Given the description of an element on the screen output the (x, y) to click on. 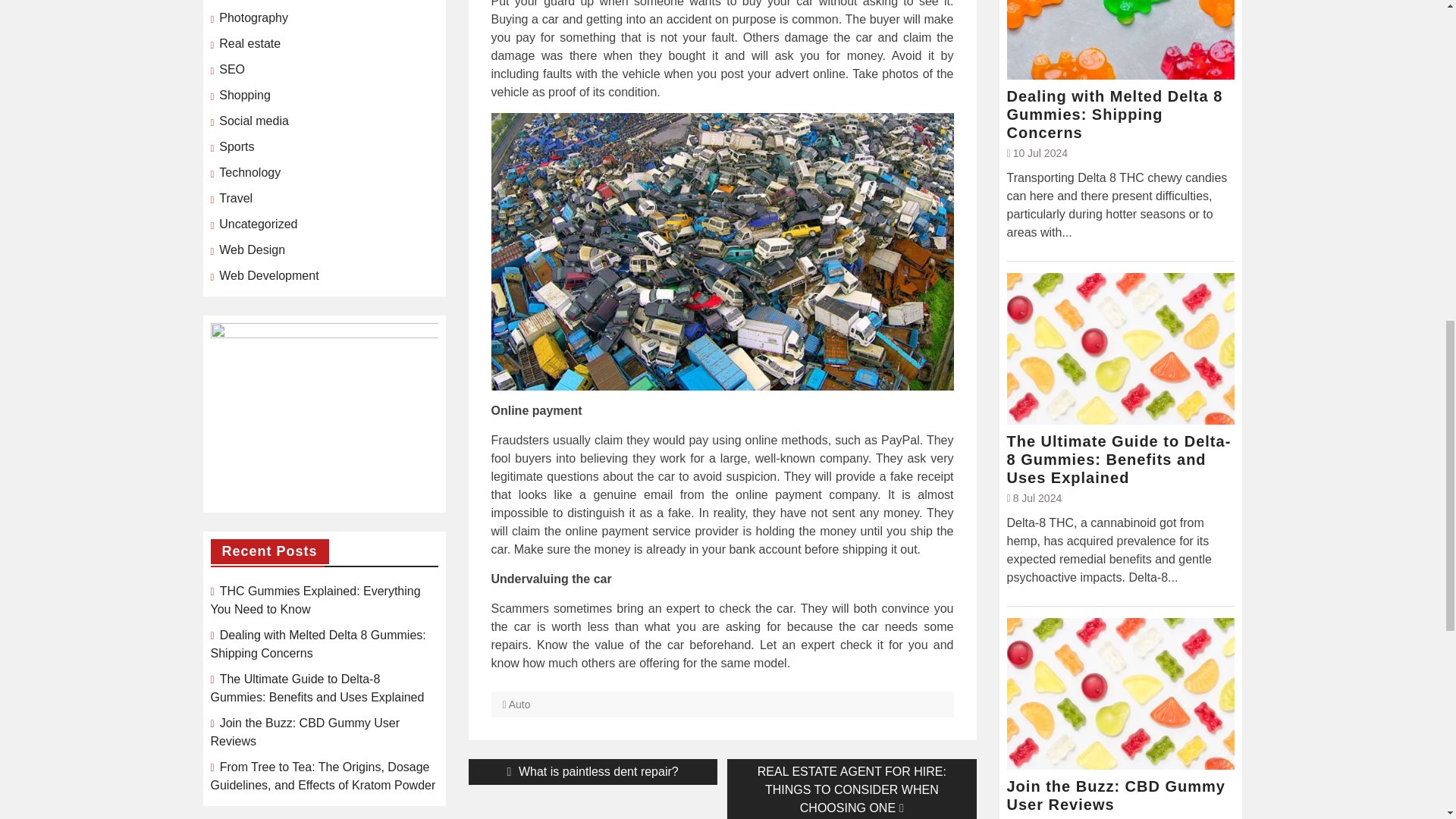
Dealing with Melted Delta 8 Gummies: Shipping Concerns (1120, 113)
Join the Buzz: CBD Gummy User Reviews (1120, 795)
Auto (592, 771)
